Given the description of an element on the screen output the (x, y) to click on. 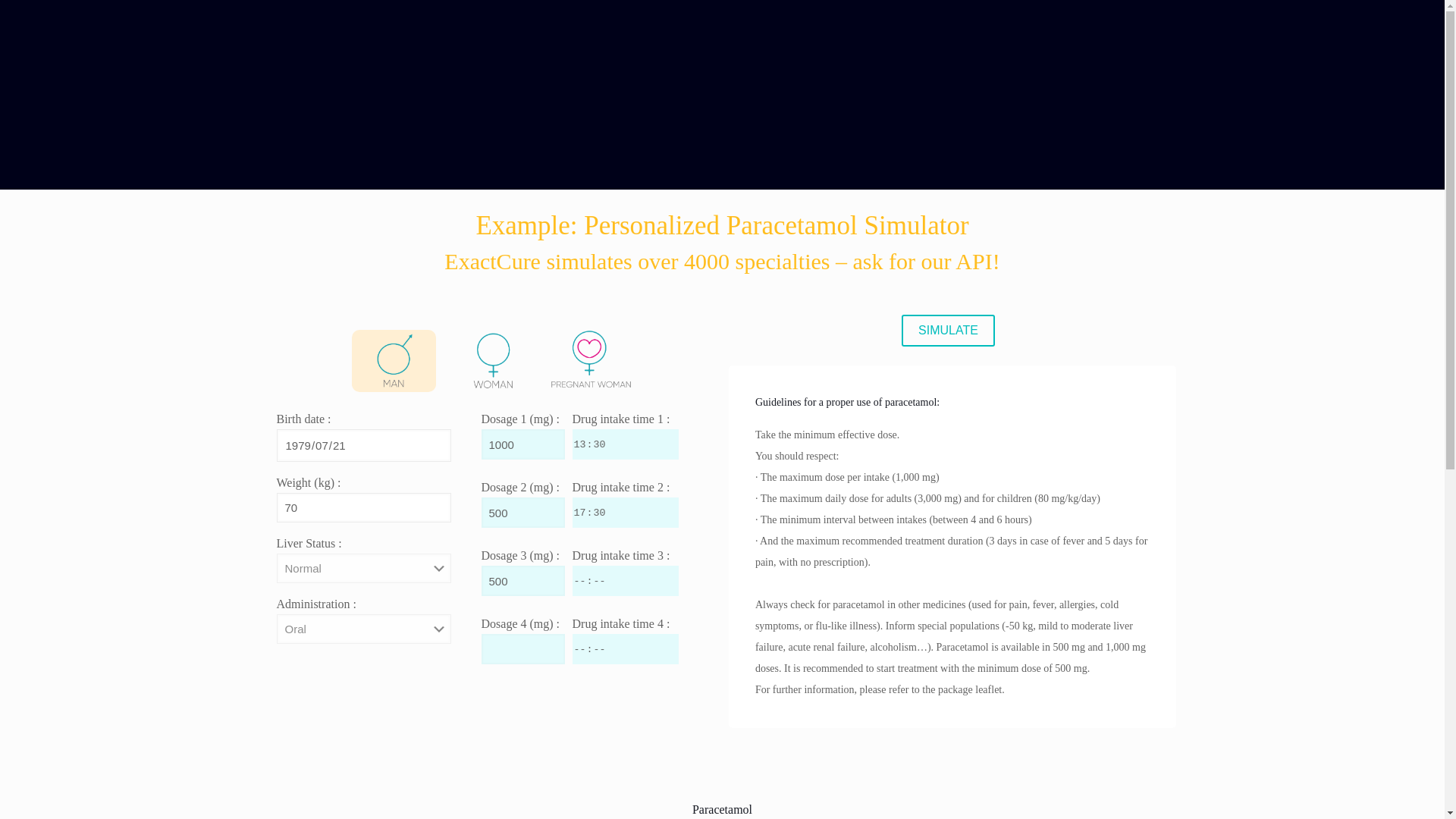
1979-07-21 (362, 445)
1000 (522, 444)
500 (522, 580)
17:30 (625, 512)
13:30 (625, 444)
500 (522, 512)
SIMULATE (947, 330)
70 (362, 507)
